Given the description of an element on the screen output the (x, y) to click on. 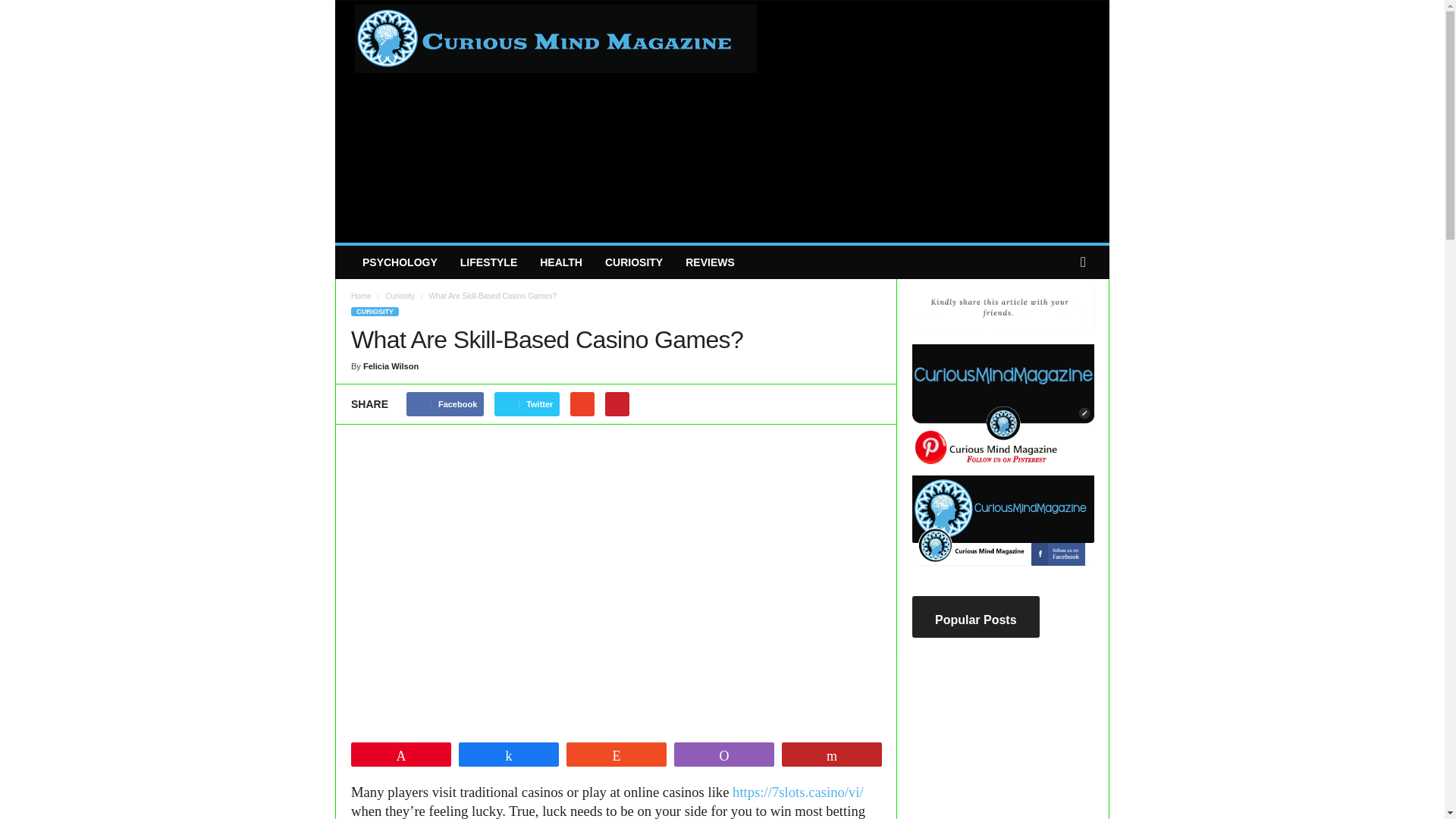
View all posts in Curiosity (399, 295)
LIFESTYLE (488, 262)
HEALTH (561, 262)
PSYCHOLOGY (399, 262)
Curious Mind Magazine (540, 55)
